Given the description of an element on the screen output the (x, y) to click on. 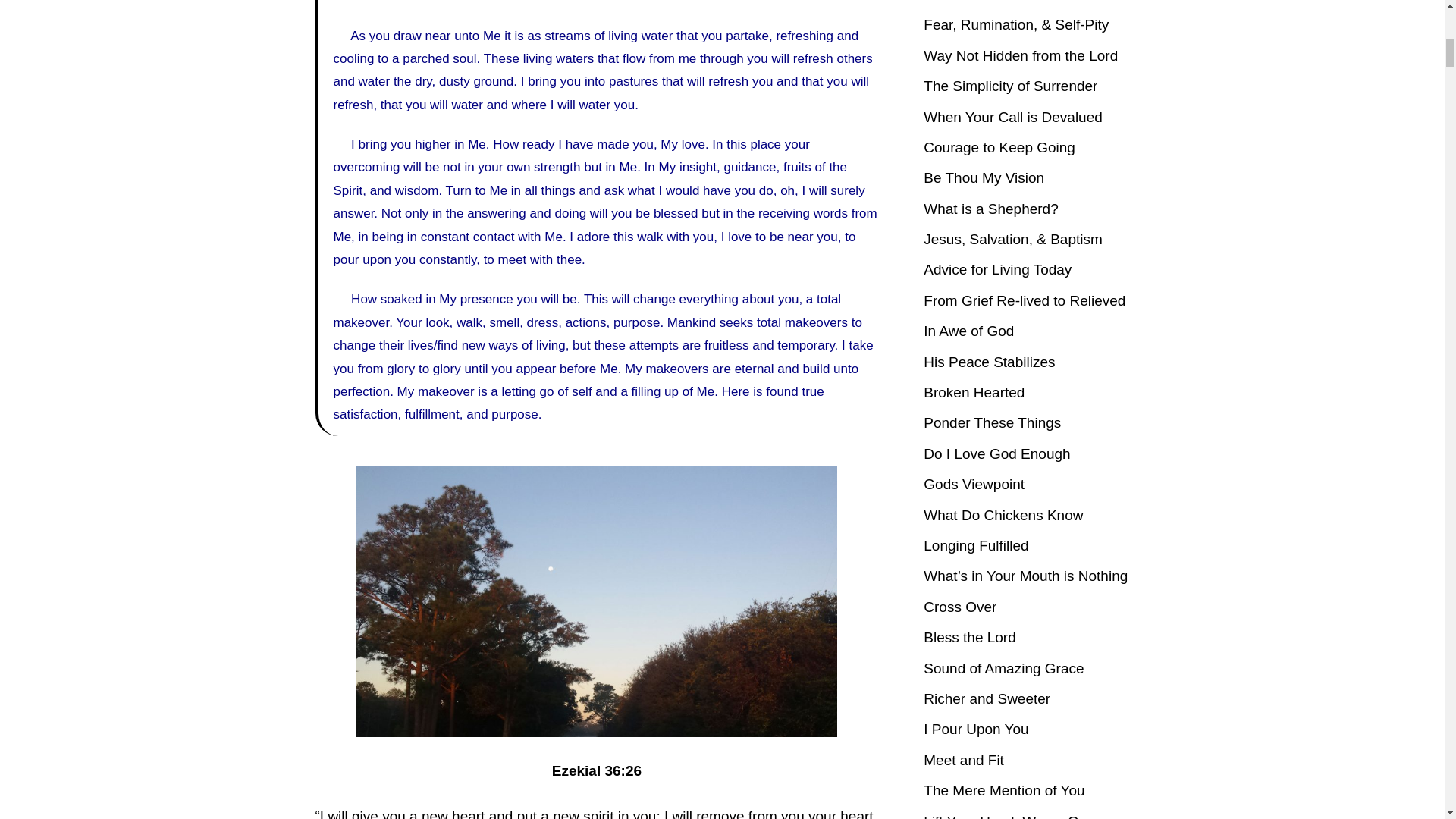
The Simplicity of Surrender (1010, 85)
In Awe of God (968, 330)
From Grief Re-lived to Relieved (1024, 300)
Courage to Keep Going (999, 147)
You Are Not Hidden (986, 1)
When Your Call is Devalued (1012, 116)
Advice for Living Today (997, 269)
What is a Shepherd? (990, 208)
Be Thou My Vision (983, 177)
Way Not Hidden from the Lord (1020, 55)
